Given the description of an element on the screen output the (x, y) to click on. 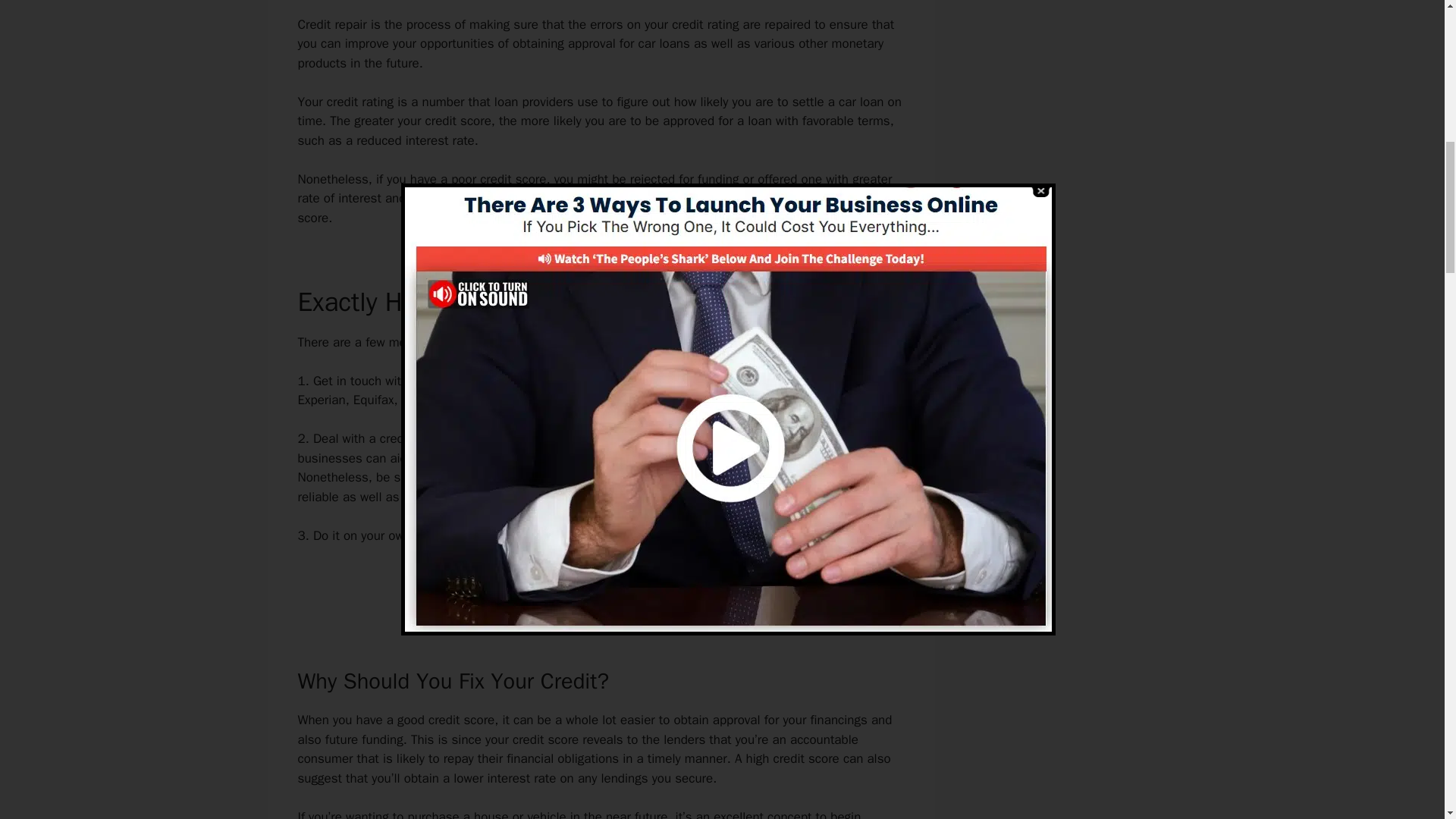
Click Here To Find Out More (601, 588)
Scroll back to top (1406, 720)
